Given the description of an element on the screen output the (x, y) to click on. 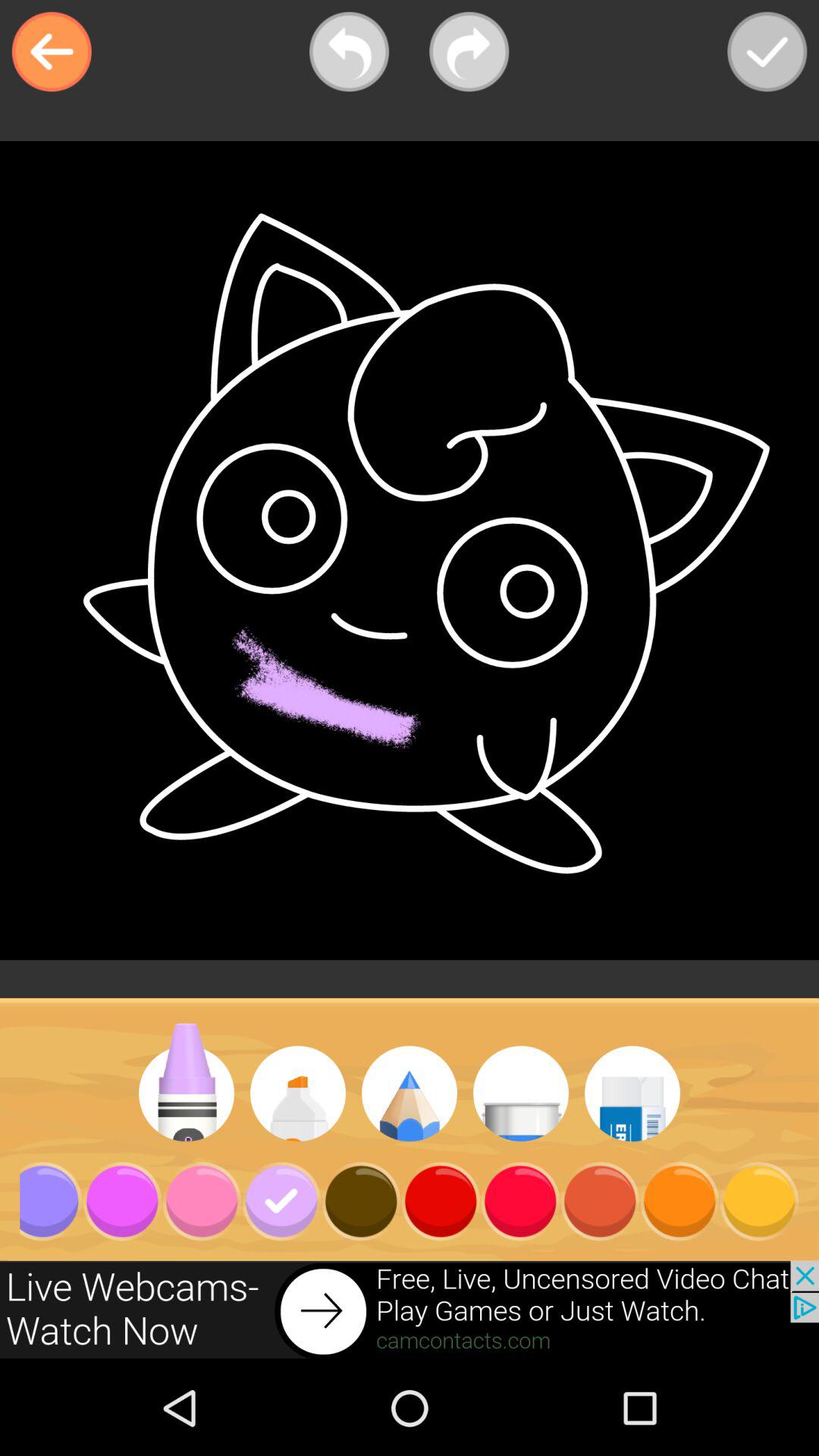
open the icon at the top right corner (767, 51)
